Given the description of an element on the screen output the (x, y) to click on. 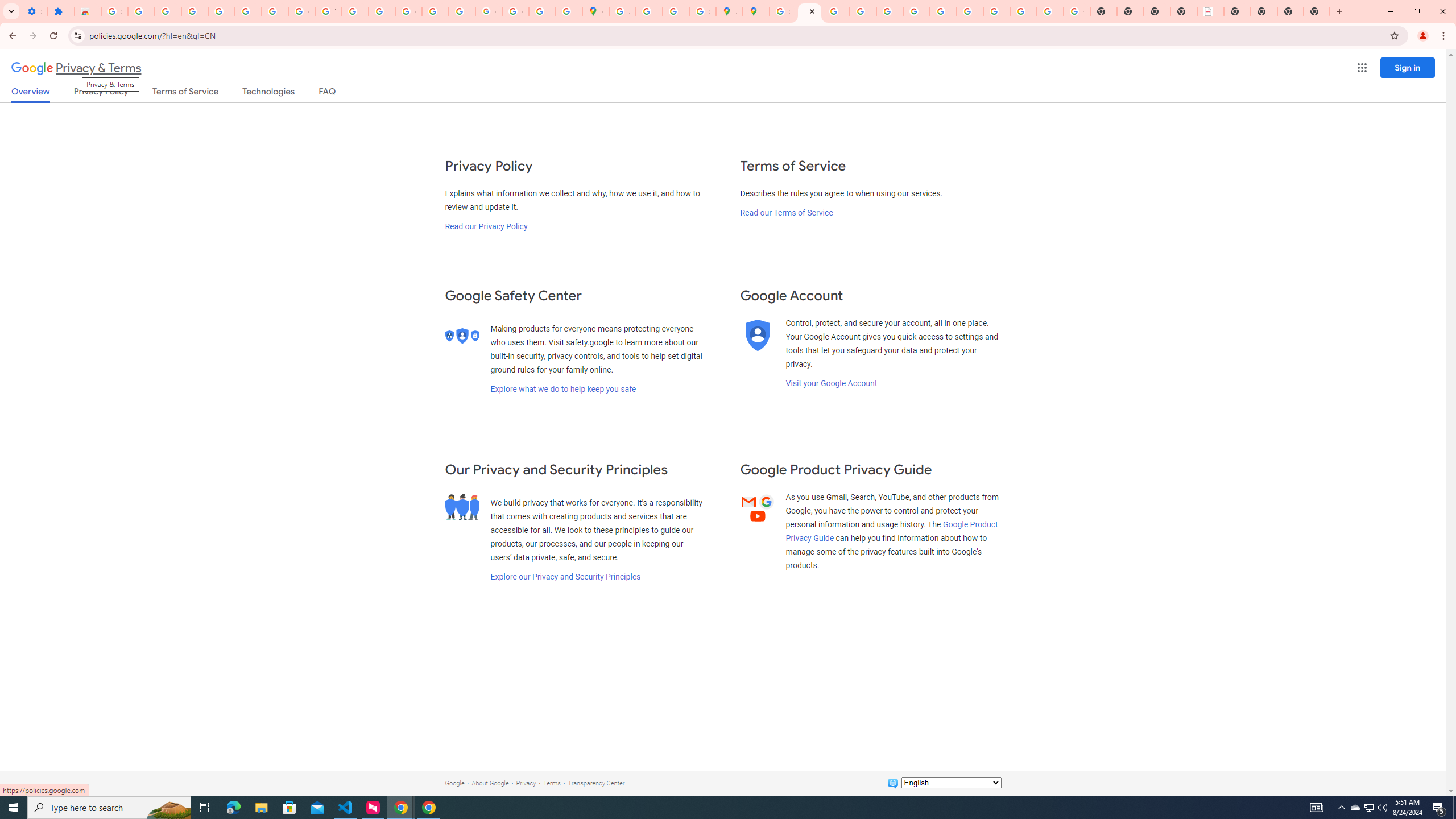
Learn how to find your photos - Google Photos Help (194, 11)
Privacy Help Center - Policies Help (862, 11)
Google Maps (595, 11)
Google Product Privacy Guide (891, 530)
Privacy Help Center - Policies Help (836, 11)
Safety in Our Products - Google Safety Center (702, 11)
Technologies (268, 93)
YouTube (328, 11)
Privacy & Terms (76, 68)
Extensions (61, 11)
